Given the description of an element on the screen output the (x, y) to click on. 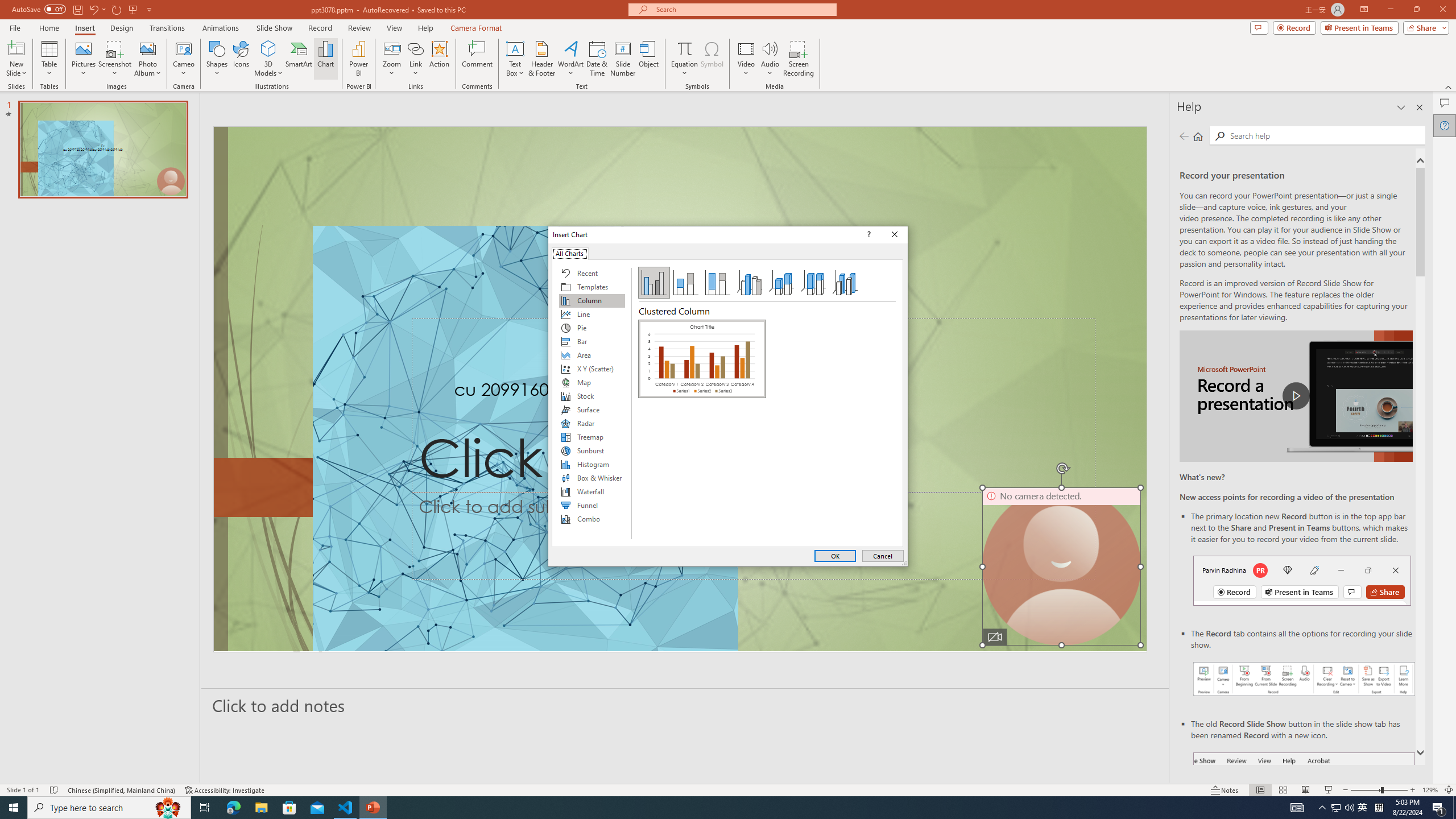
Comment (476, 58)
WordArt (570, 58)
play Record a Presentation (1296, 395)
Area (591, 354)
Surface (591, 409)
